Given the description of an element on the screen output the (x, y) to click on. 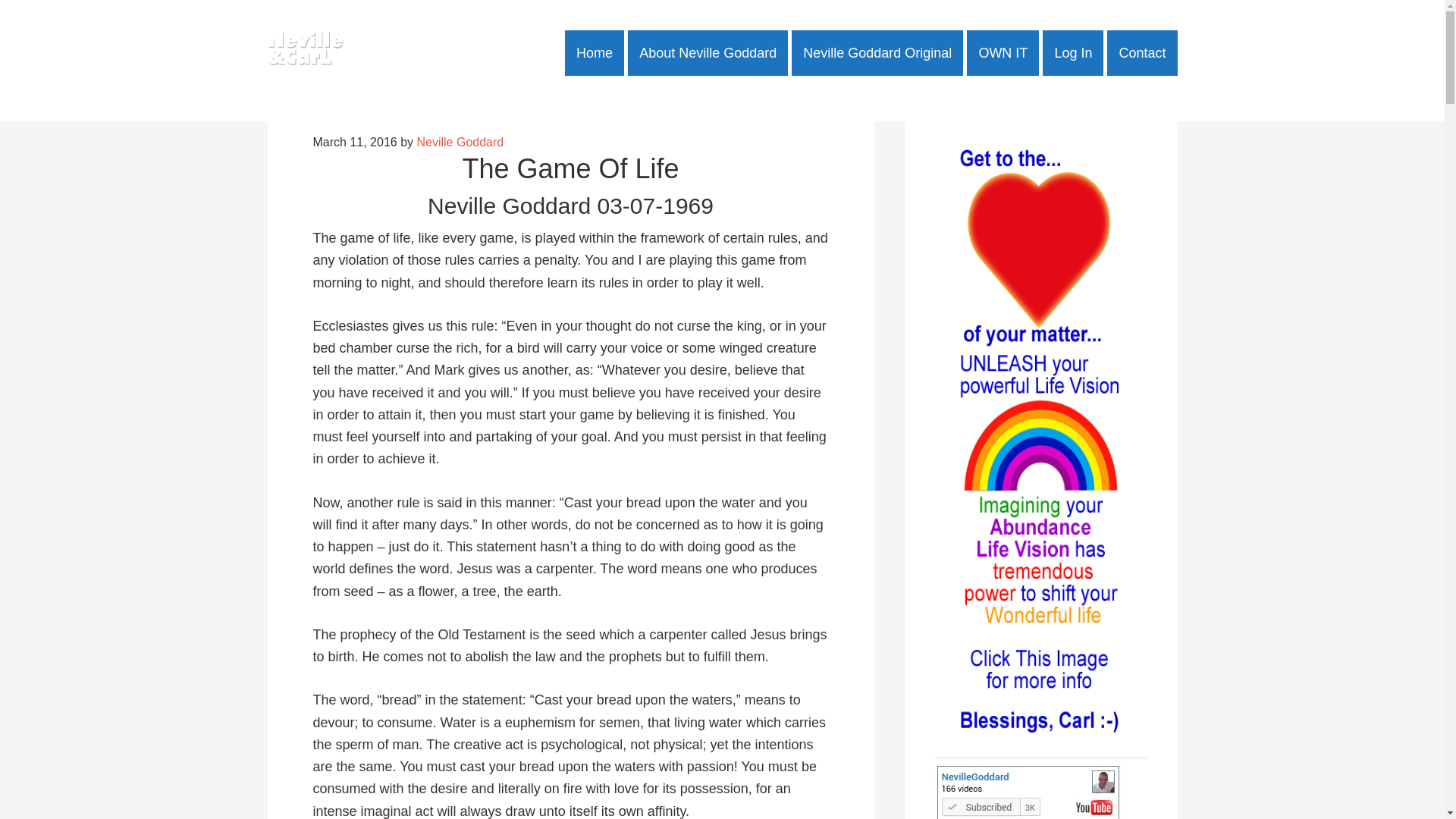
About Neville Goddard (707, 53)
Secret Of Imagining Collection (1002, 53)
Neville Goddard Original (877, 53)
Home (594, 53)
Neville Goddard Now. Lectures, books, audio, mp3, pdf. (304, 53)
About Neville Goddard (707, 53)
Contact (1141, 53)
Log In (1072, 53)
Neville Goddard (459, 141)
OWN IT (1002, 53)
